Given the description of an element on the screen output the (x, y) to click on. 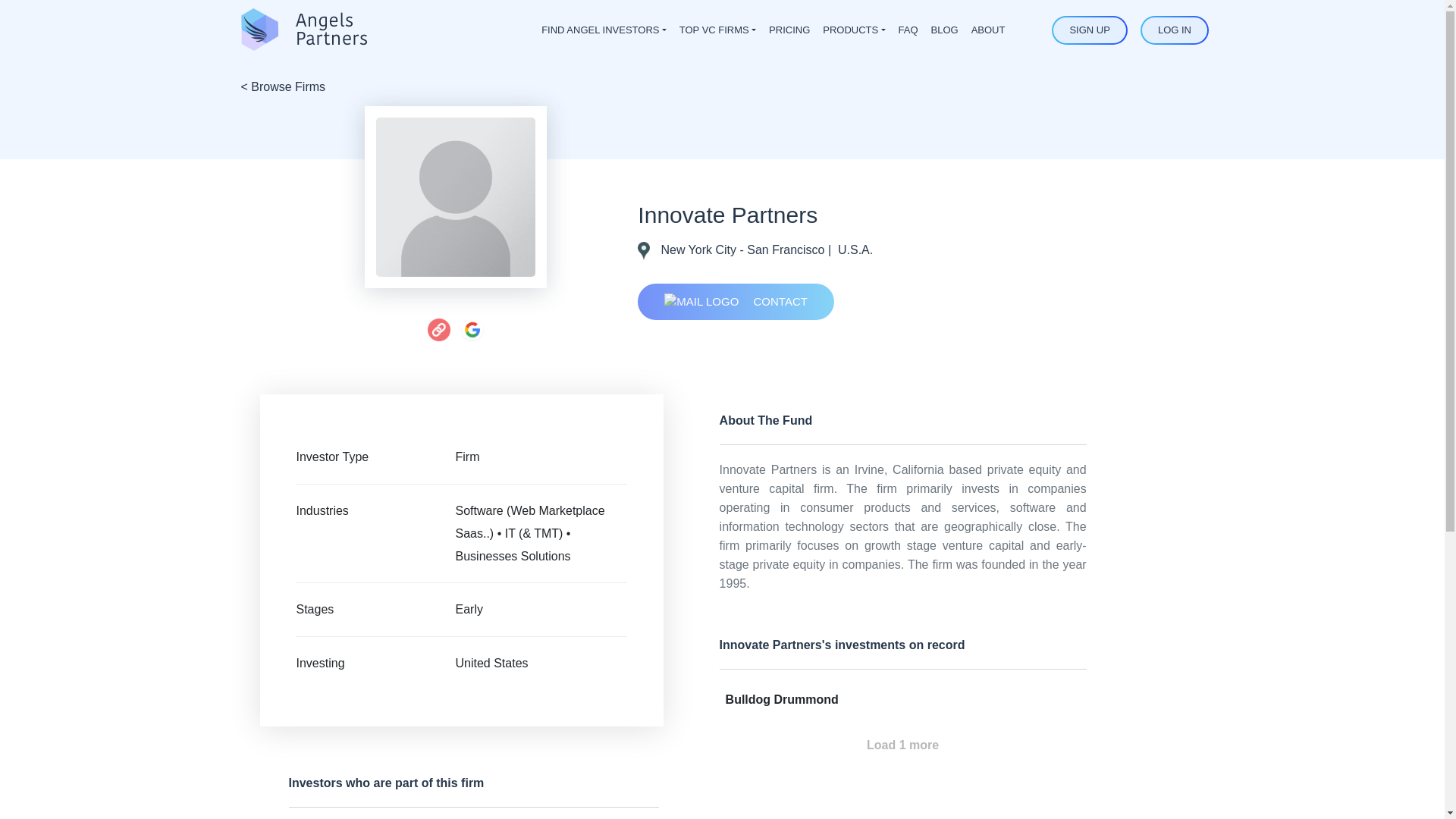
TOP VC FIRMS (717, 29)
PRICING (788, 29)
FIND ANGEL INVESTORS (603, 29)
PRODUCTS (853, 29)
